Given the description of an element on the screen output the (x, y) to click on. 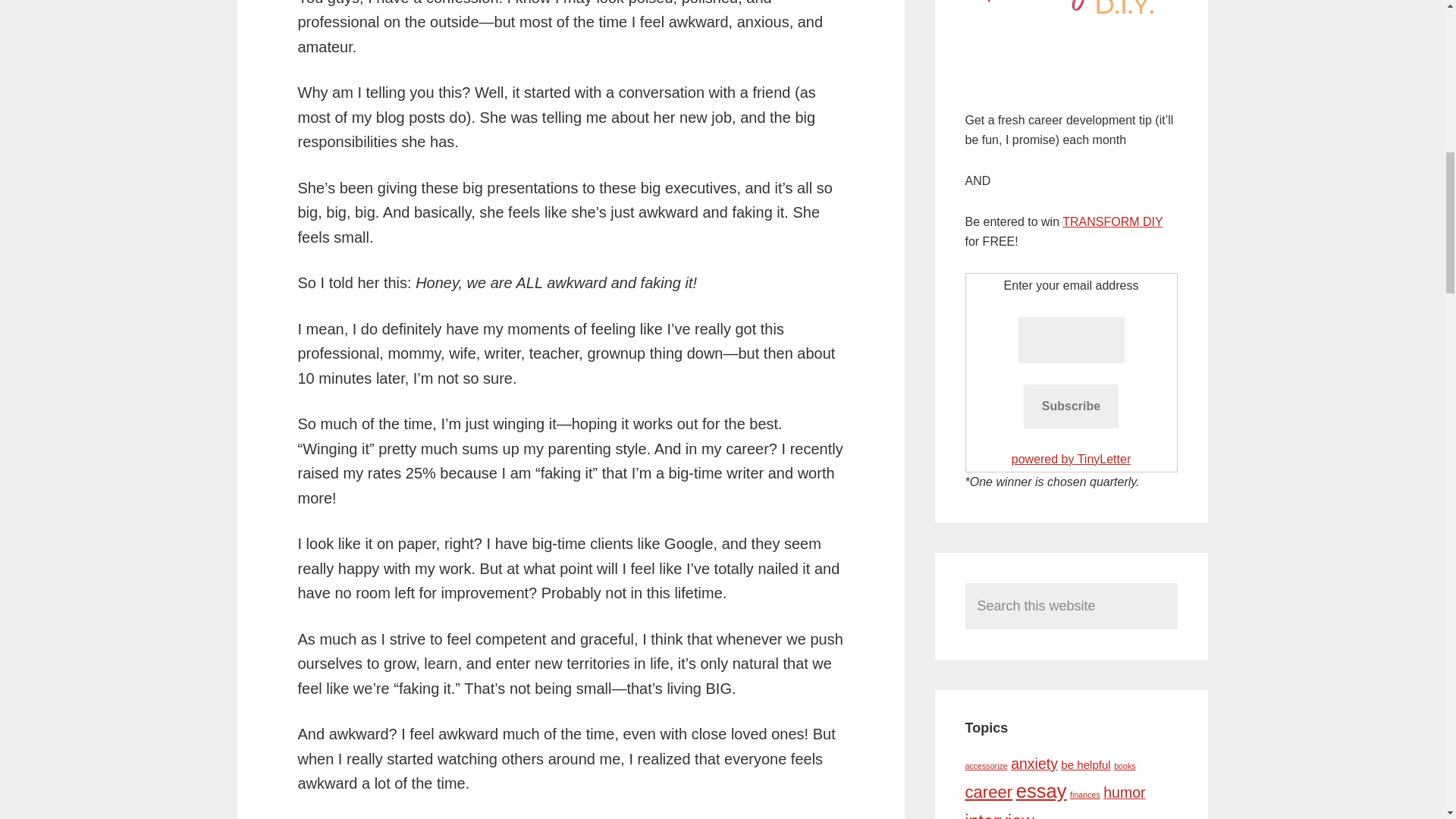
Subscribe (1070, 406)
